Given the description of an element on the screen output the (x, y) to click on. 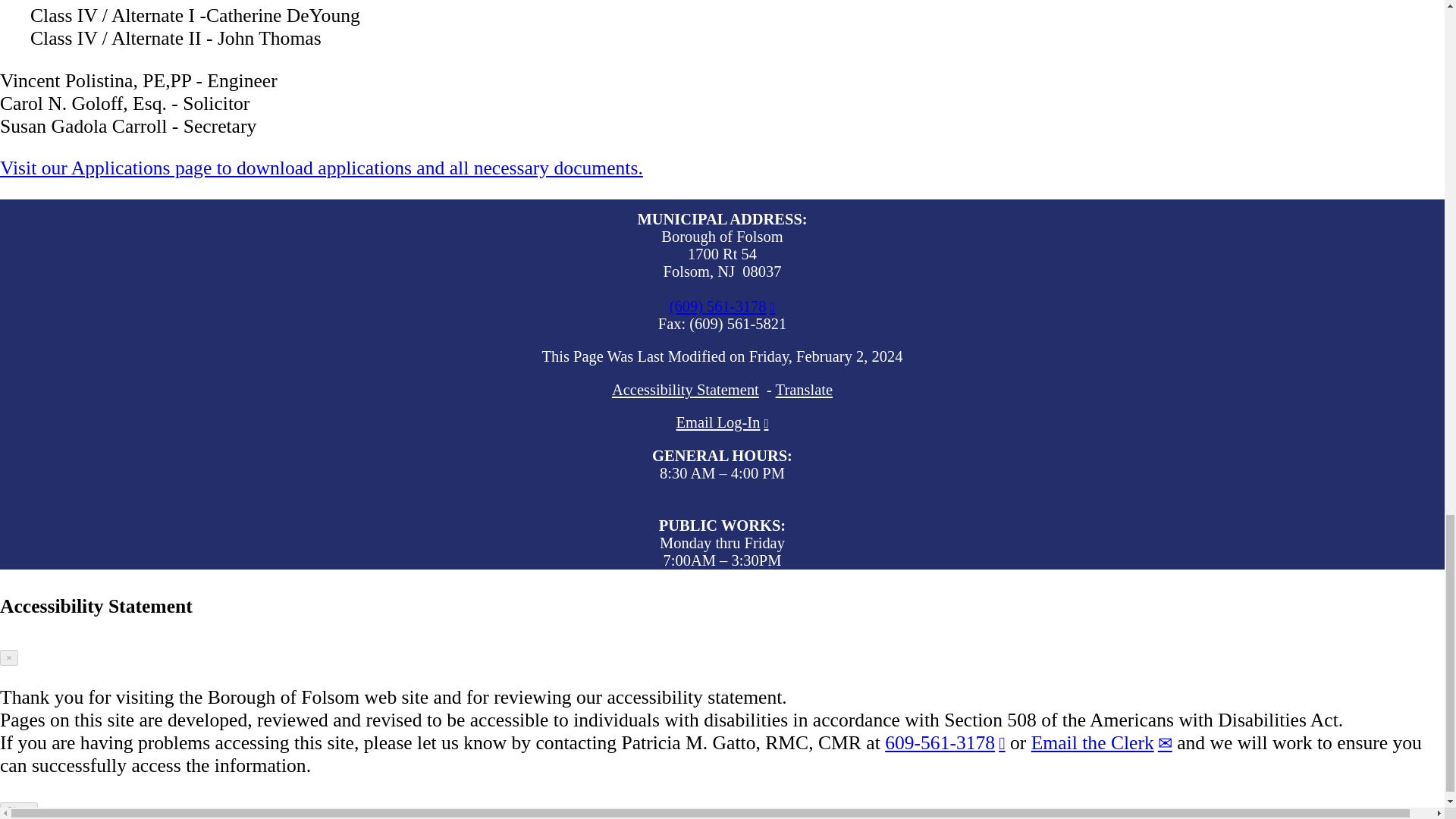
Planning Applications (321, 168)
Accessibility Statement (684, 389)
Borough Hall (722, 306)
Translate (804, 389)
Email Log-In (722, 422)
Web Mail (722, 422)
Municipal Clerk (944, 742)
